Given the description of an element on the screen output the (x, y) to click on. 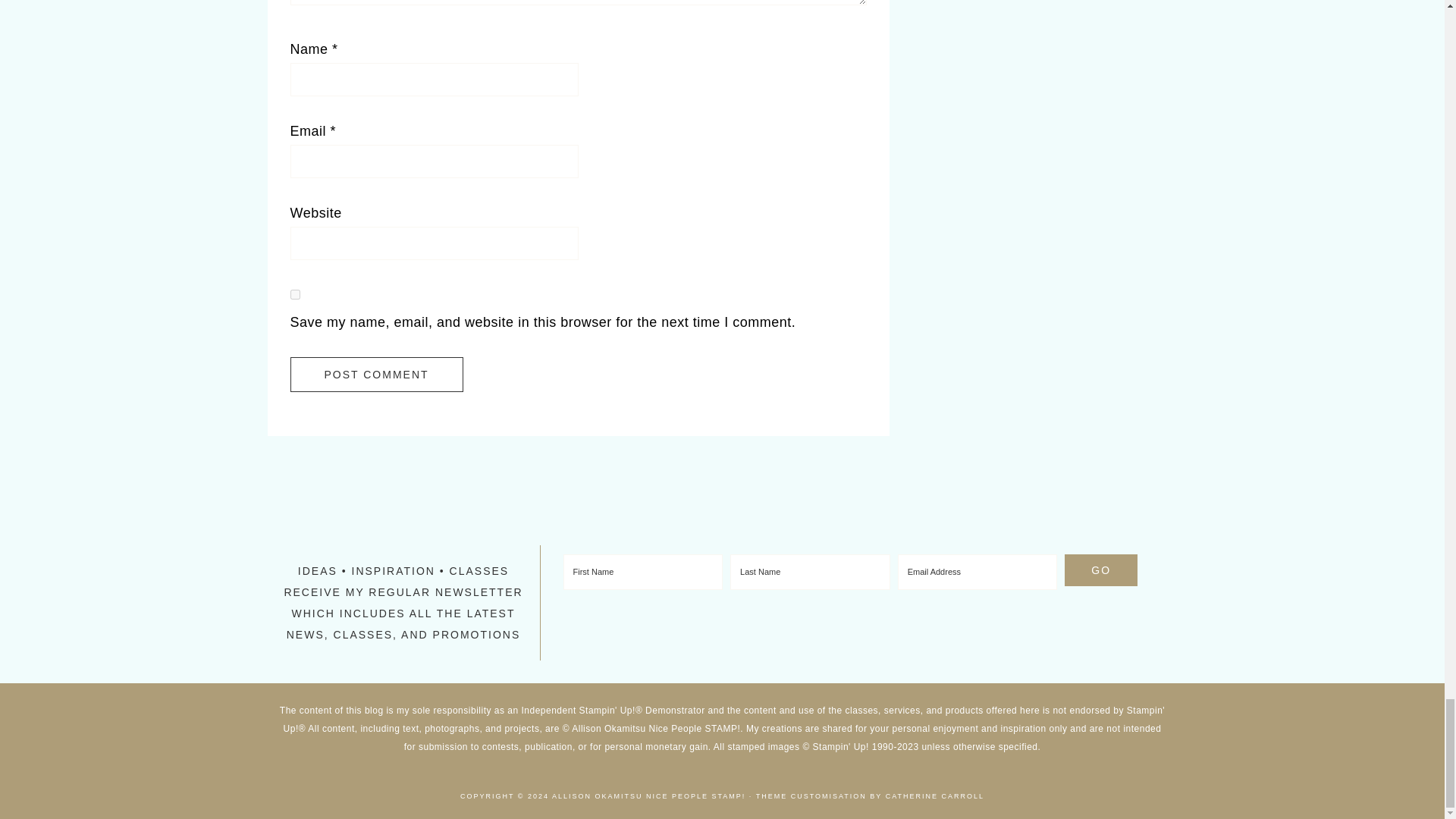
Go (1100, 570)
yes (294, 294)
Post Comment (376, 374)
